Given the description of an element on the screen output the (x, y) to click on. 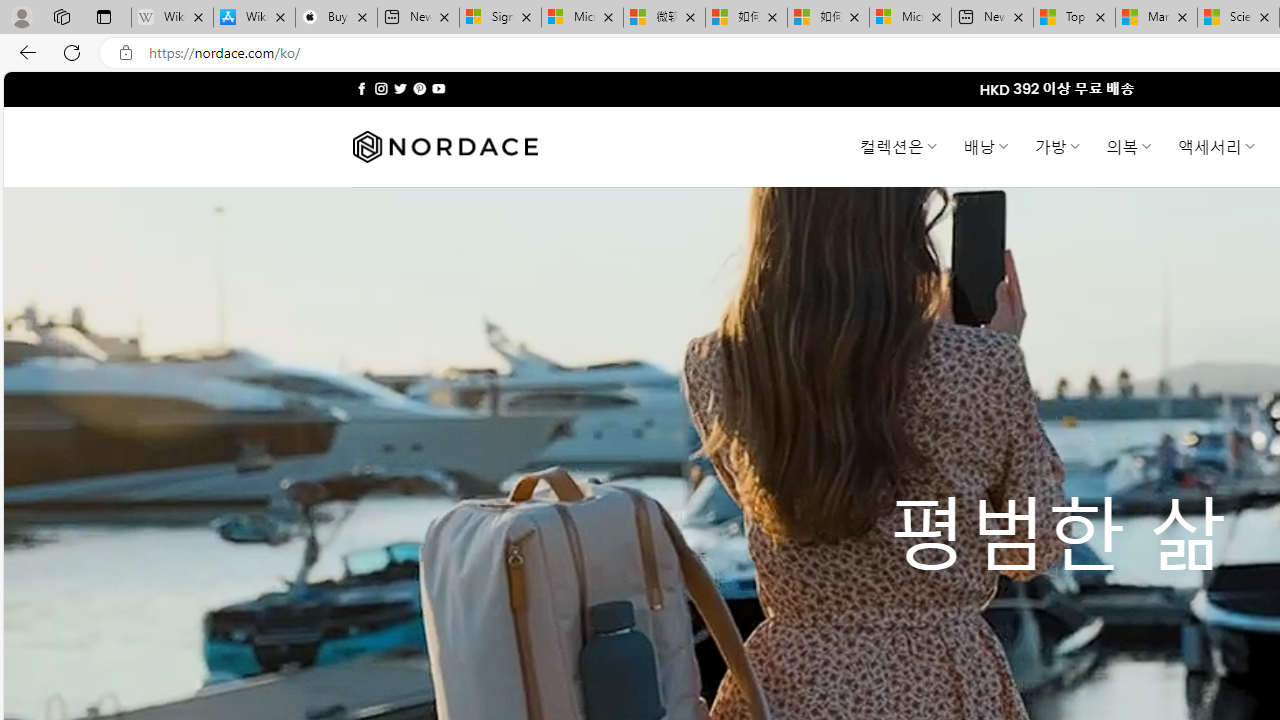
View site information (125, 53)
Microsoft Services Agreement (582, 17)
